Given the description of an element on the screen output the (x, y) to click on. 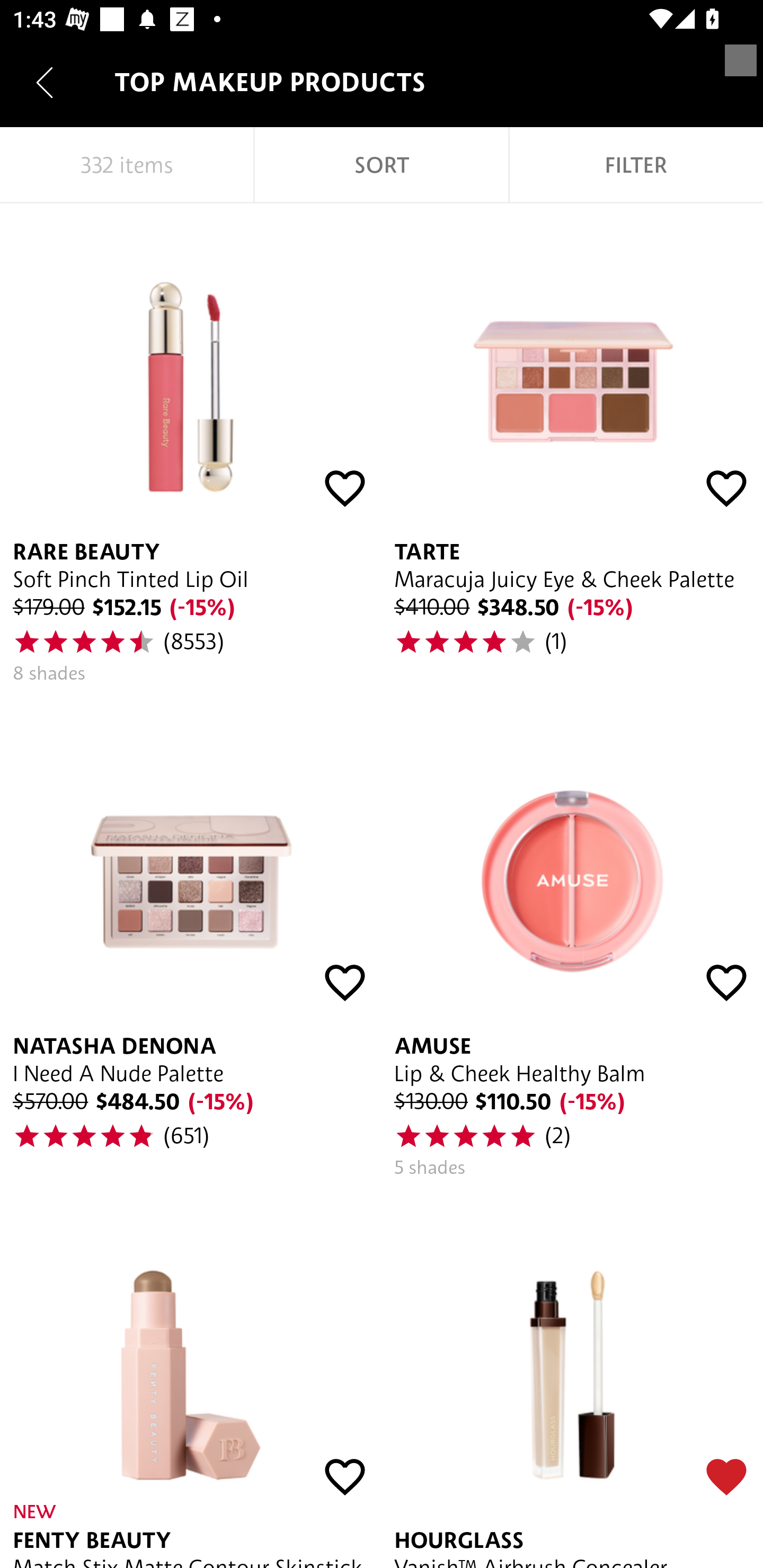
Navigate up (44, 82)
SORT (381, 165)
FILTER (636, 165)
HOURGLASS Vanish™ Airbrush Concealer (572, 1379)
